Given the description of an element on the screen output the (x, y) to click on. 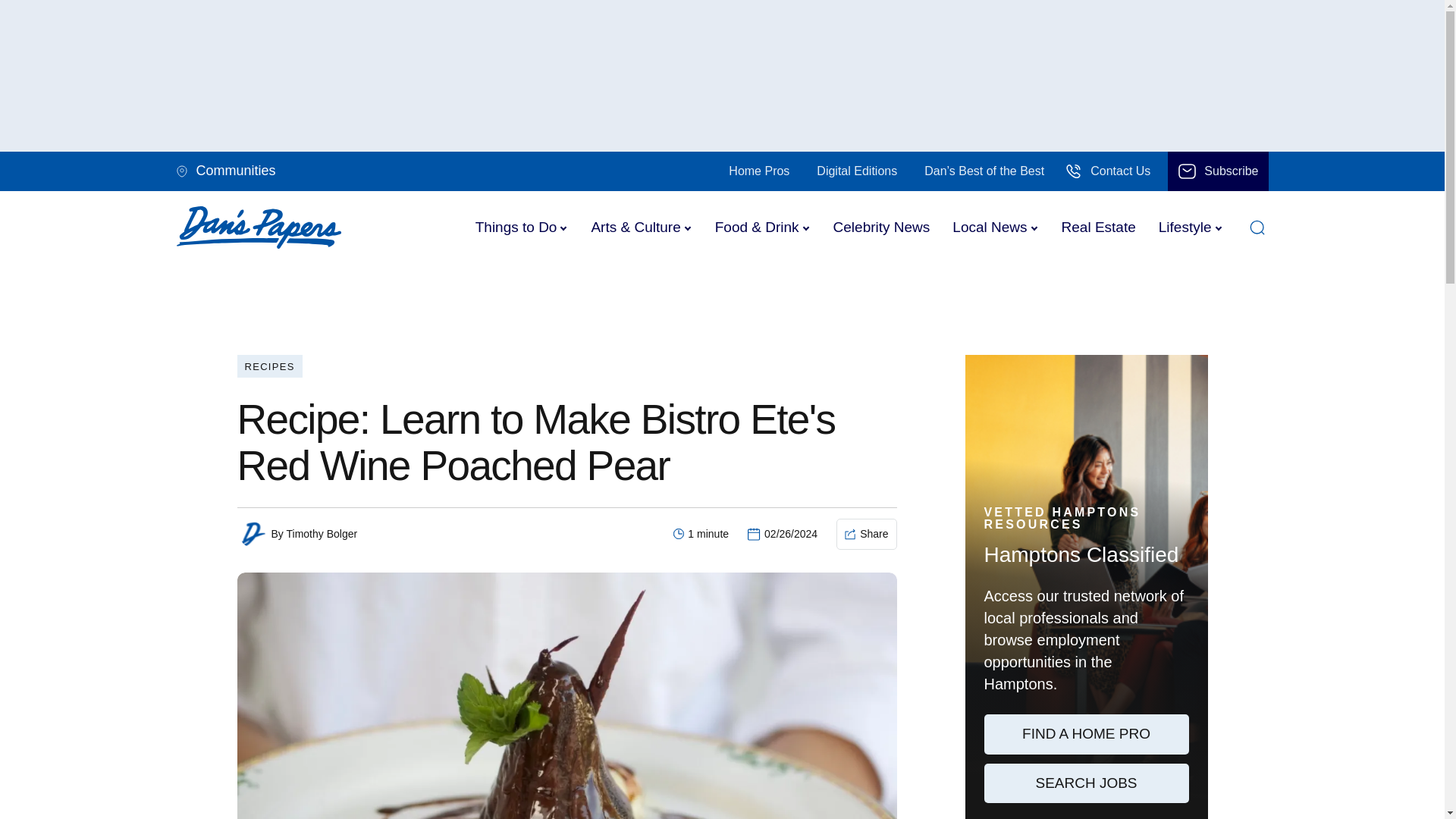
Home Pros (759, 170)
Communities (232, 170)
Posts by Timothy Bolger (320, 533)
Things to Do (516, 227)
Contact Us (1107, 170)
Subscribe (1217, 170)
Digital Editions (856, 170)
